Given the description of an element on the screen output the (x, y) to click on. 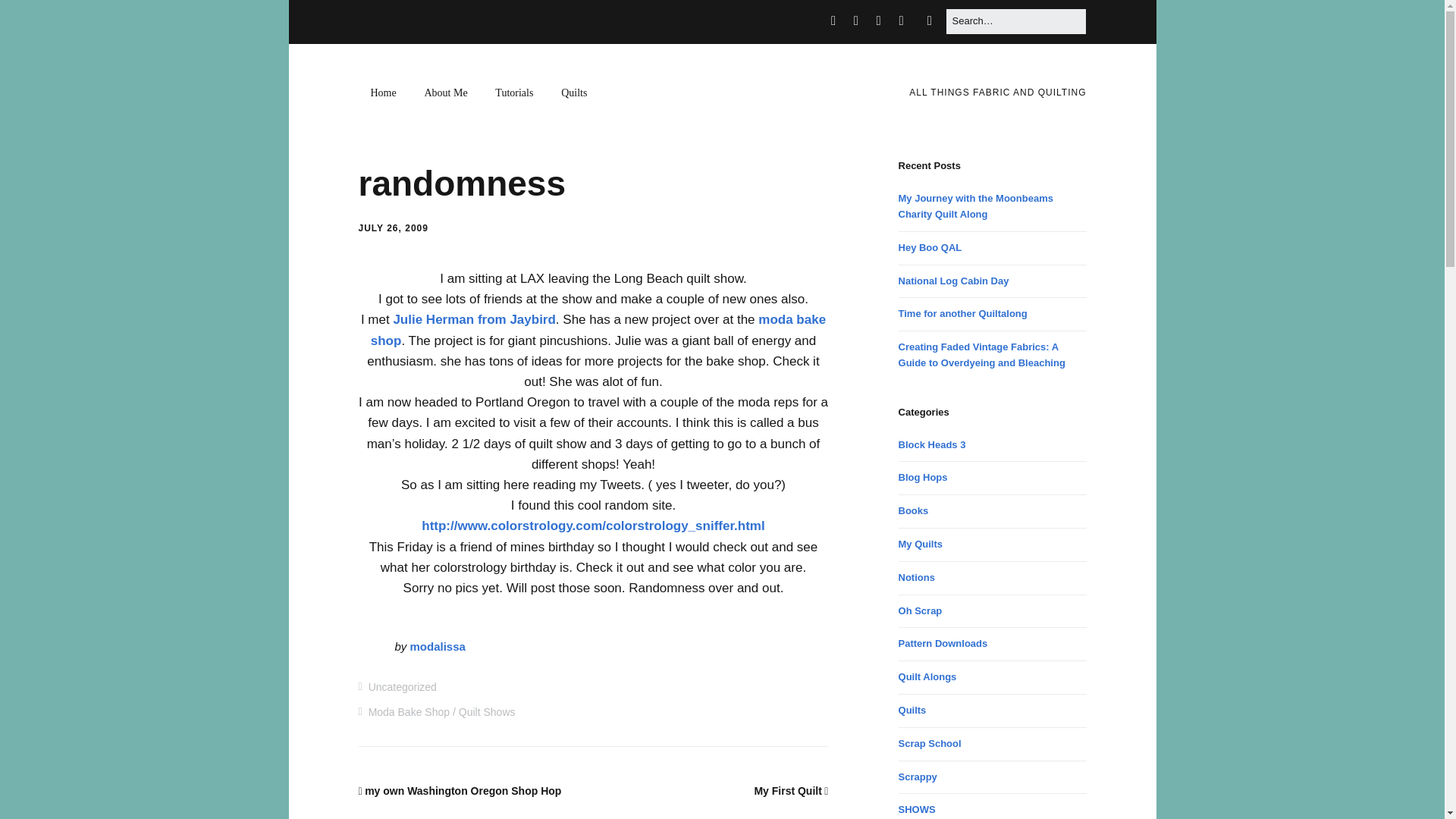
Press Enter to submit your search (1015, 21)
About Me (445, 92)
moda bake shop (598, 329)
Moda Bake Shop (408, 711)
my own Washington Oregon Shop Hop (459, 790)
Quilt Shows (486, 711)
My First Quilt (791, 790)
Tutorials (513, 92)
Uncategorized (402, 686)
modalissa (437, 645)
